Given the description of an element on the screen output the (x, y) to click on. 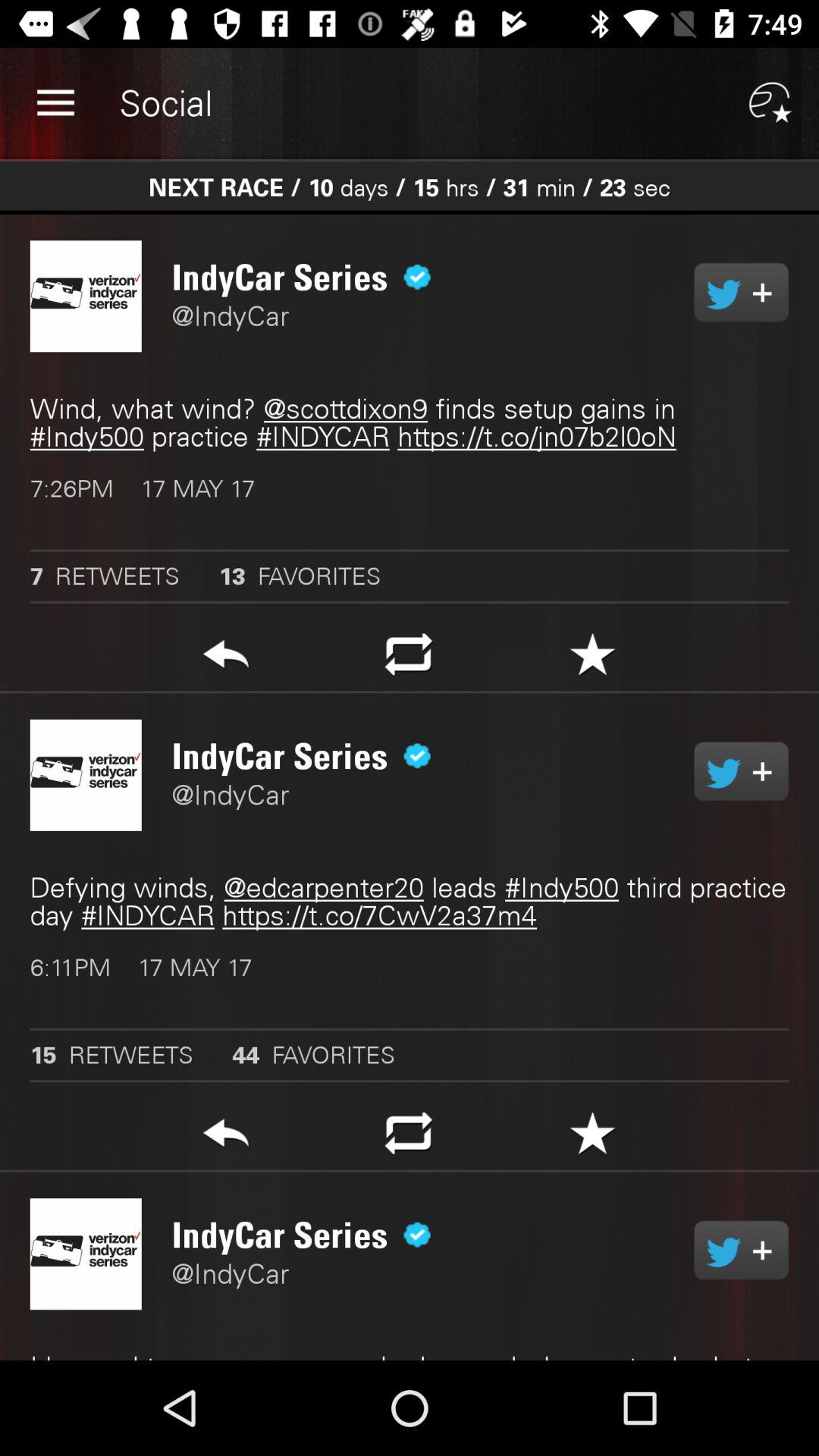
retweet post (408, 1137)
